Given the description of an element on the screen output the (x, y) to click on. 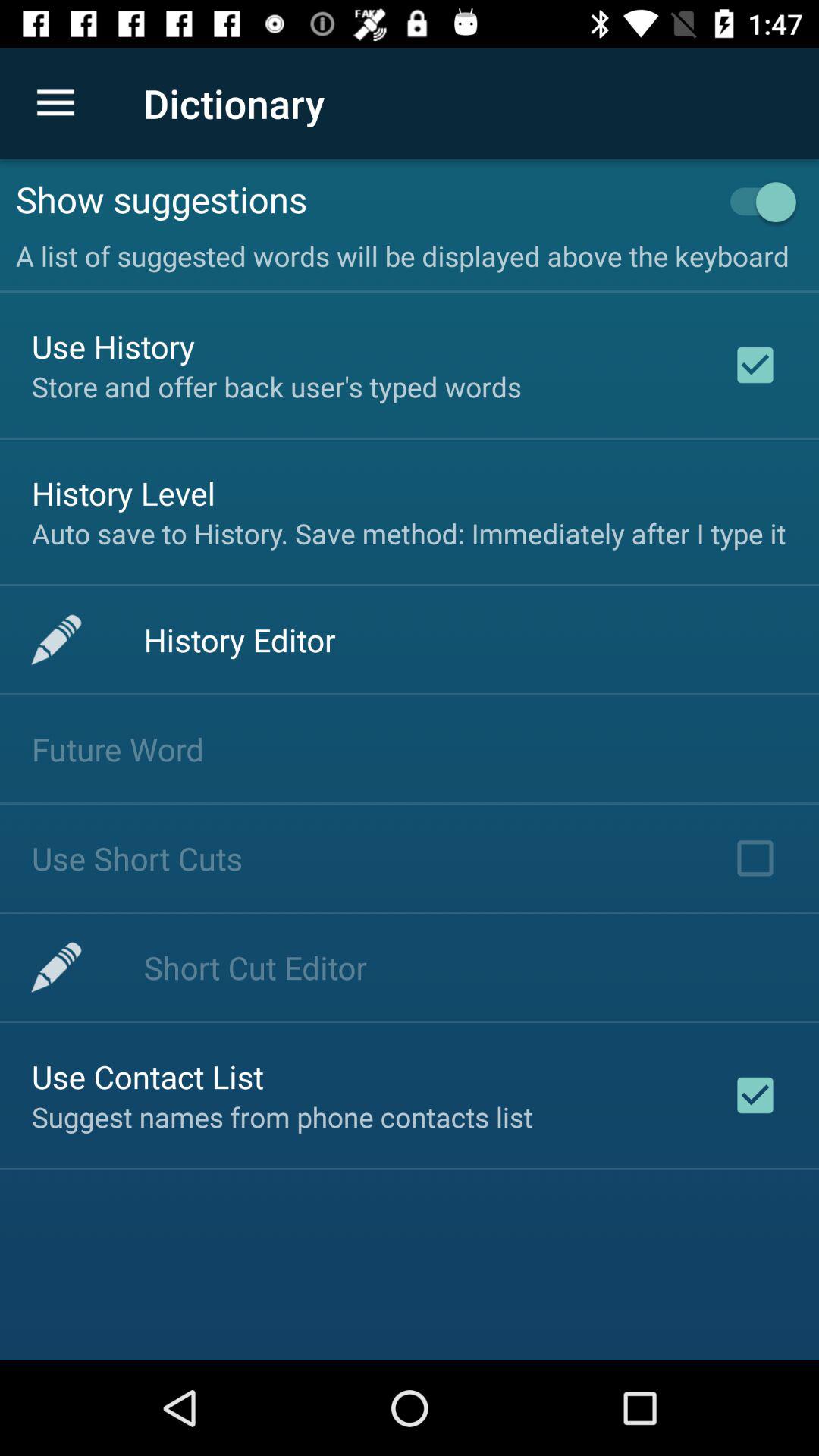
click the item above use contact list icon (254, 967)
